Given the description of an element on the screen output the (x, y) to click on. 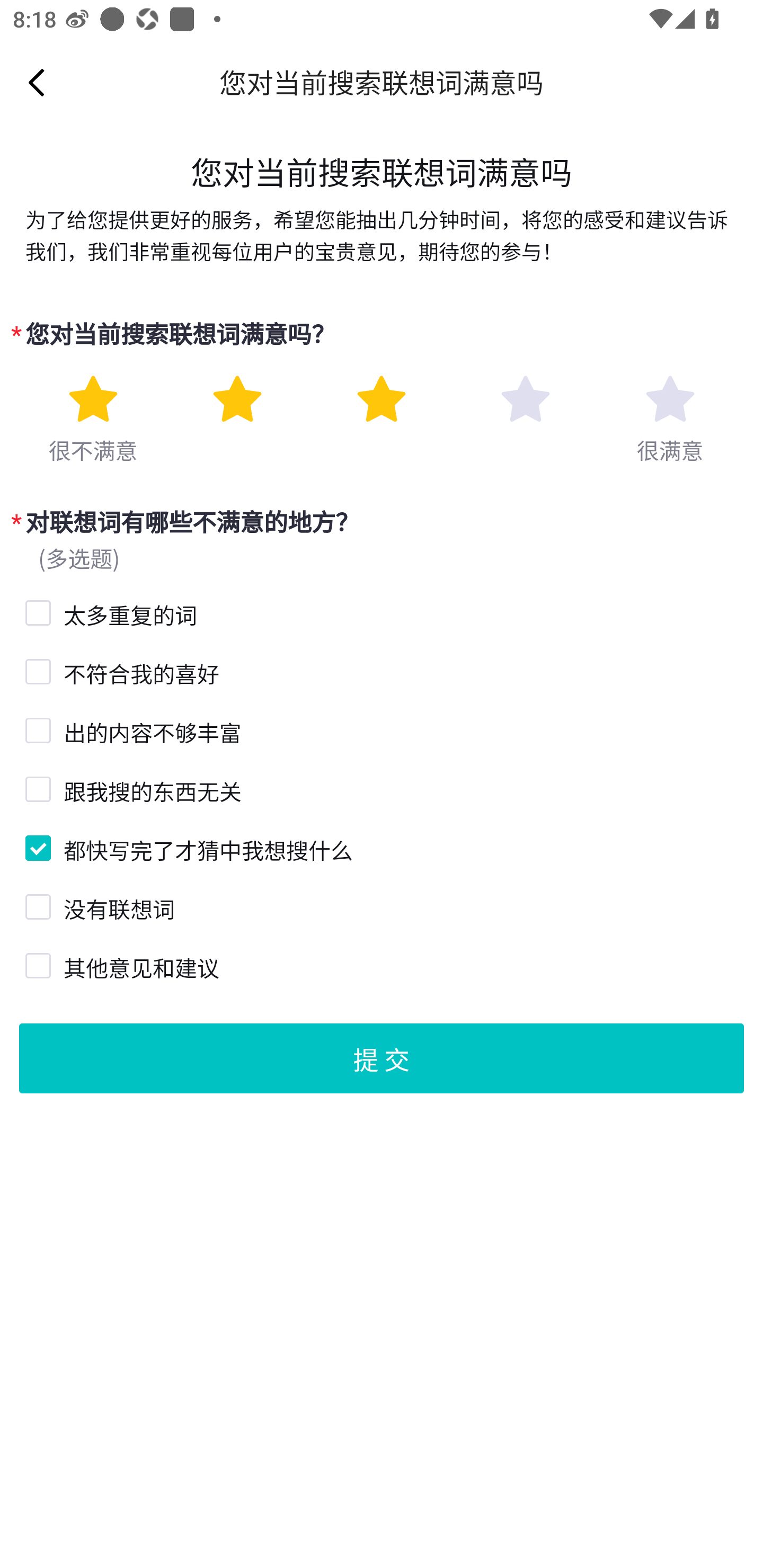
Navigate up (36, 82)
star star (92, 399)
star star (237, 399)
star star (381, 399)
star star (524, 399)
star star (669, 399)
太多重复的词   (36, 610)
不符合我的喜好   (36, 670)
出的内容不够丰富   (36, 728)
跟我搜的东西无关   (36, 787)
都快写完了才猜中我想搜什么   (36, 845)
没有联想词   (36, 905)
其他意见和建议   (36, 963)
提 交 (381, 1057)
